Given the description of an element on the screen output the (x, y) to click on. 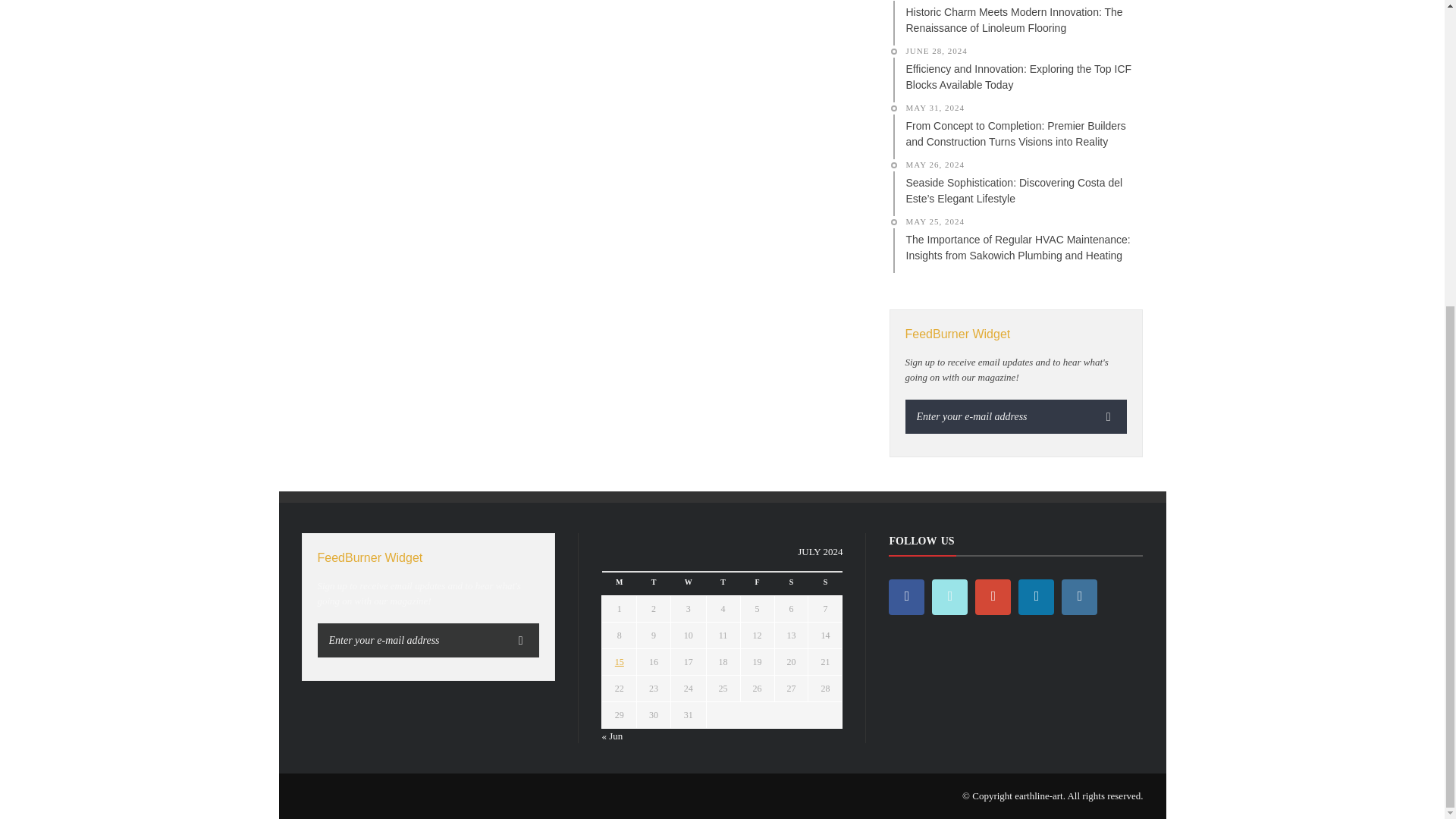
Saturday (791, 583)
Thursday (722, 583)
Tuesday (654, 583)
Monday (619, 583)
Friday (756, 583)
Enter your e-mail address (409, 640)
Enter your e-mail address (997, 416)
Sunday (825, 583)
Wednesday (688, 583)
